Given the description of an element on the screen output the (x, y) to click on. 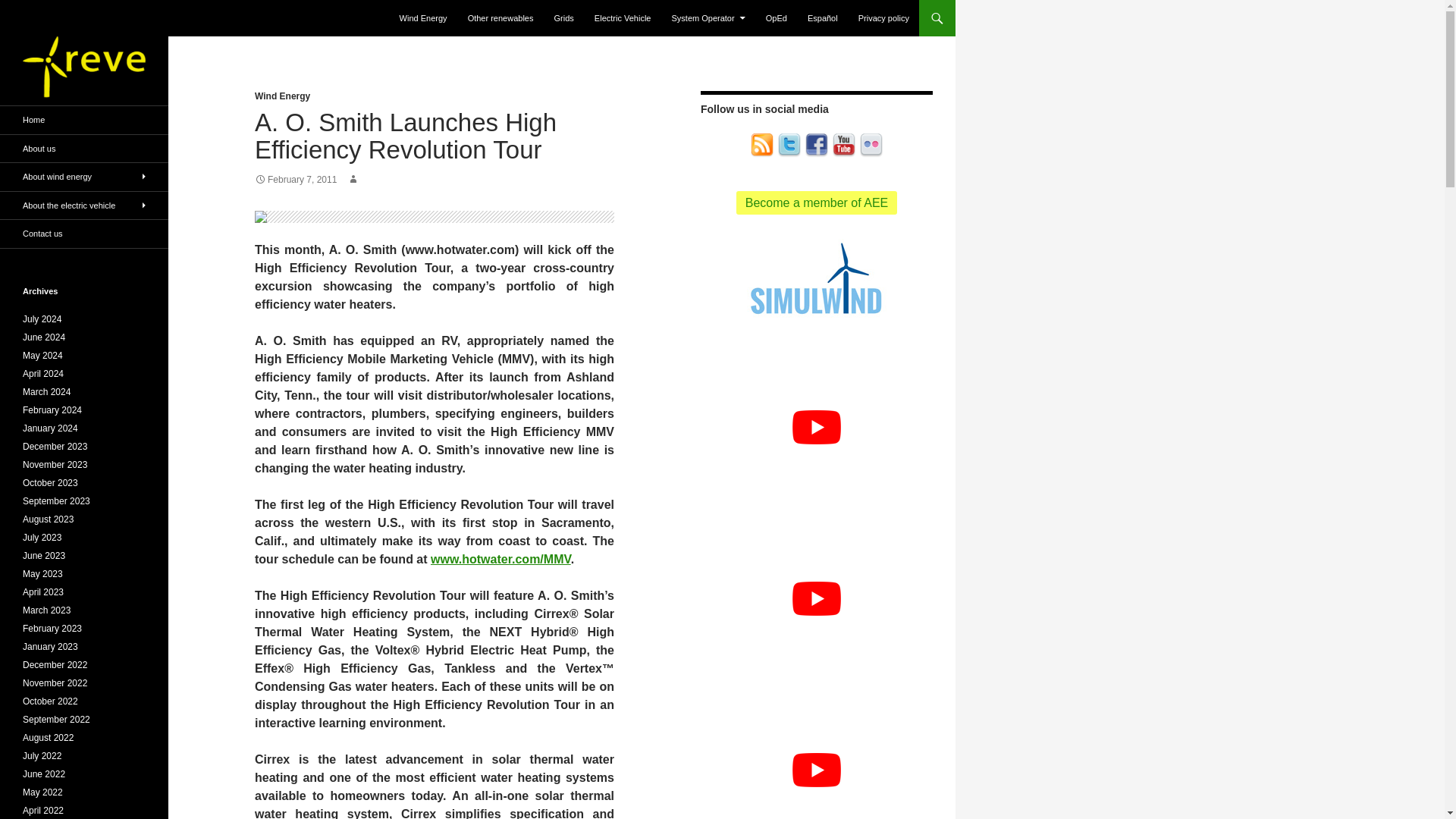
Wind Energy (282, 95)
RSS (761, 145)
flickr (871, 145)
February 7, 2011 (295, 179)
Become a member of AEE (817, 202)
OpEd (776, 18)
twitter (789, 144)
twitter (789, 145)
youtube (843, 145)
youtube (843, 144)
RSS (762, 144)
Other renewables (500, 18)
Electric Vehicle (623, 18)
Privacy policy (883, 18)
Grids (563, 18)
